Given the description of an element on the screen output the (x, y) to click on. 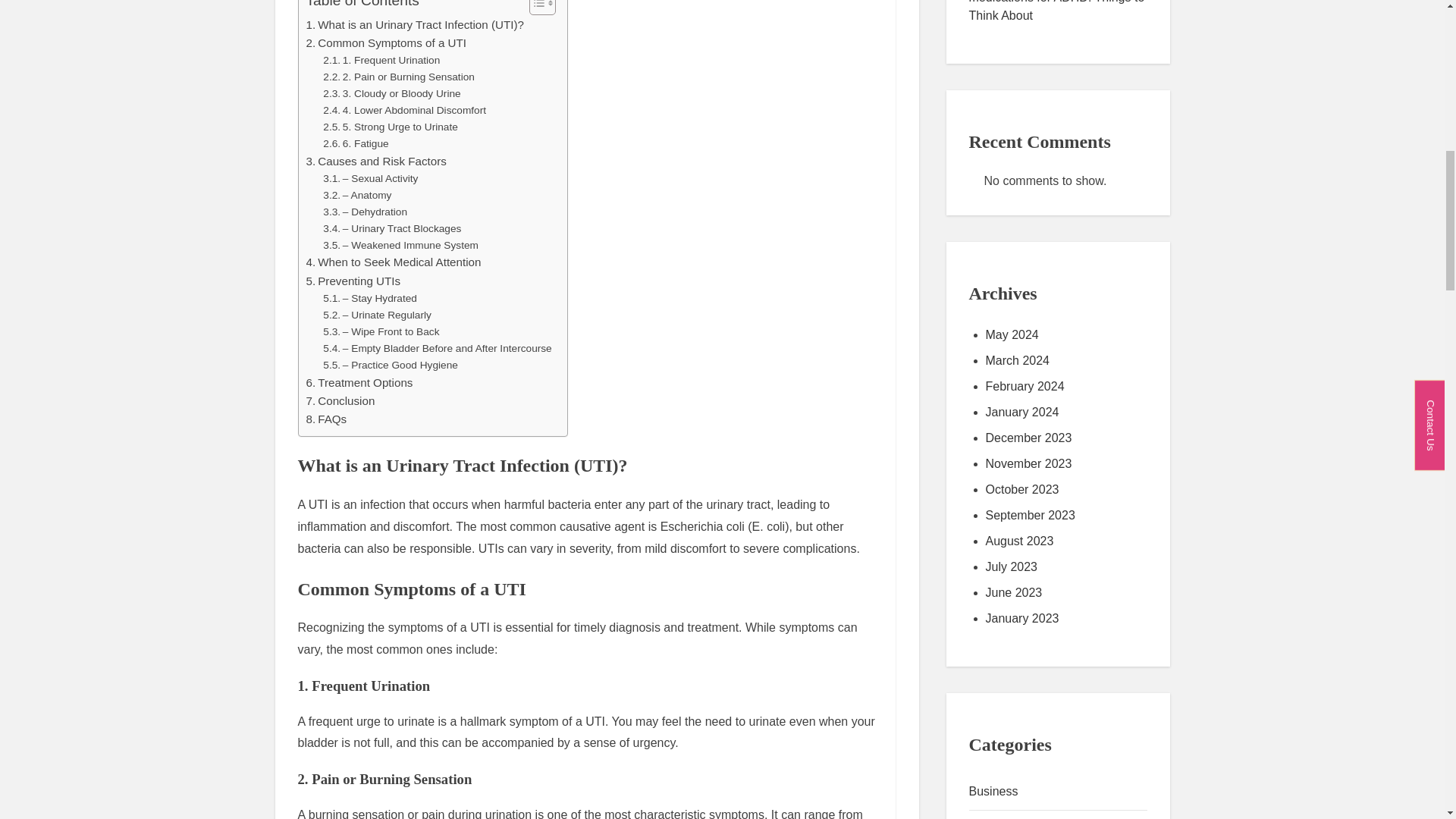
5. Strong Urge to Urinate (390, 126)
2. Pain or Burning Sensation (398, 76)
4. Lower Abdominal Discomfort (404, 110)
When to Seek Medical Attention (393, 262)
1. Frequent Urination (381, 60)
Common Symptoms of a UTI (386, 43)
6. Fatigue (355, 143)
Preventing UTIs (353, 280)
3. Cloudy or Bloody Urine (391, 93)
Causes and Risk Factors (375, 161)
